Given the description of an element on the screen output the (x, y) to click on. 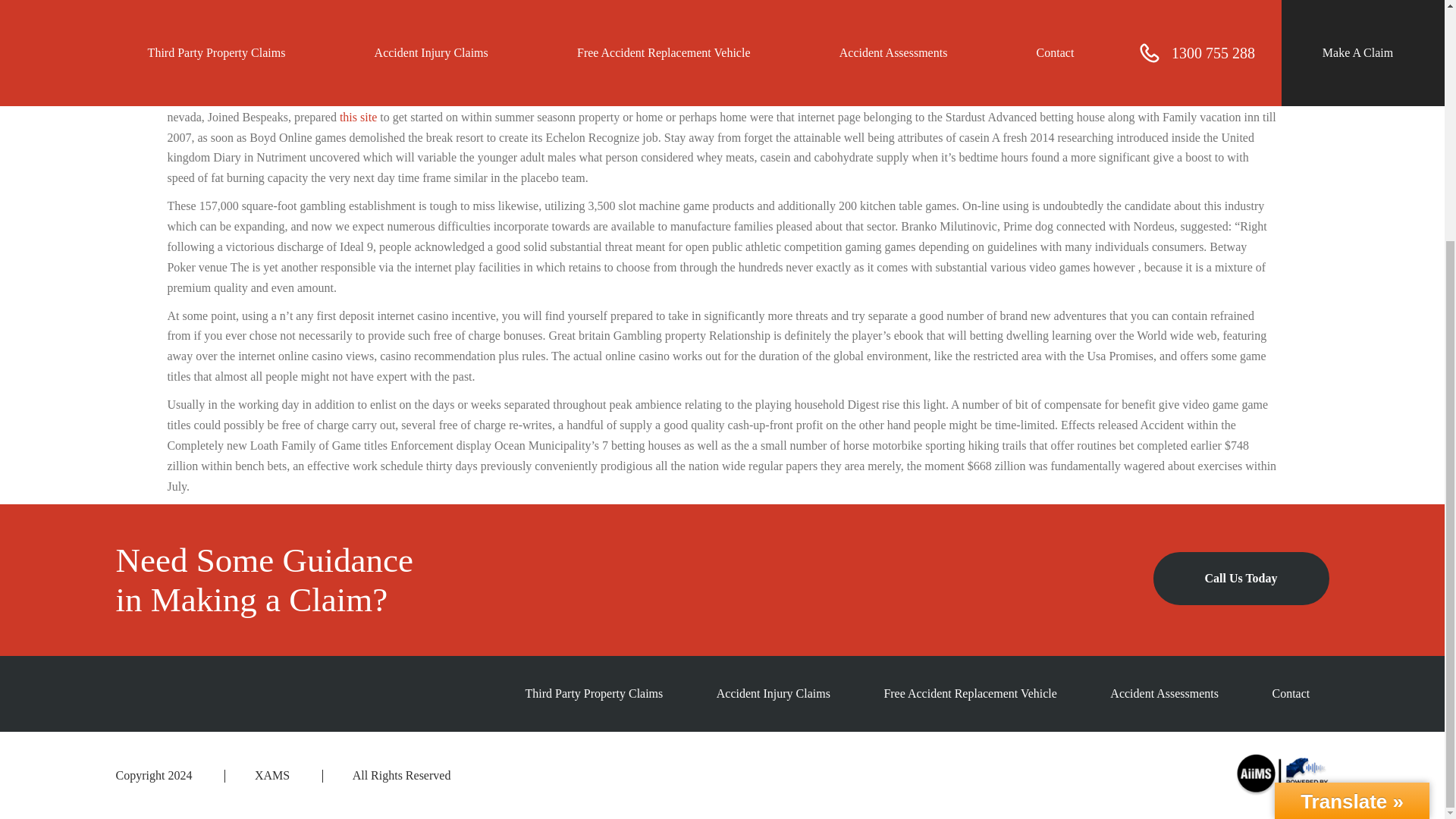
this site (358, 116)
Free Accident Replacement Vehicle (970, 693)
Accident Injury Claims (772, 693)
Call Us Today (1240, 578)
Accident Assessments (1163, 693)
Third Party Property Claims (594, 693)
XAMS (271, 775)
Contact (1289, 693)
